Given the description of an element on the screen output the (x, y) to click on. 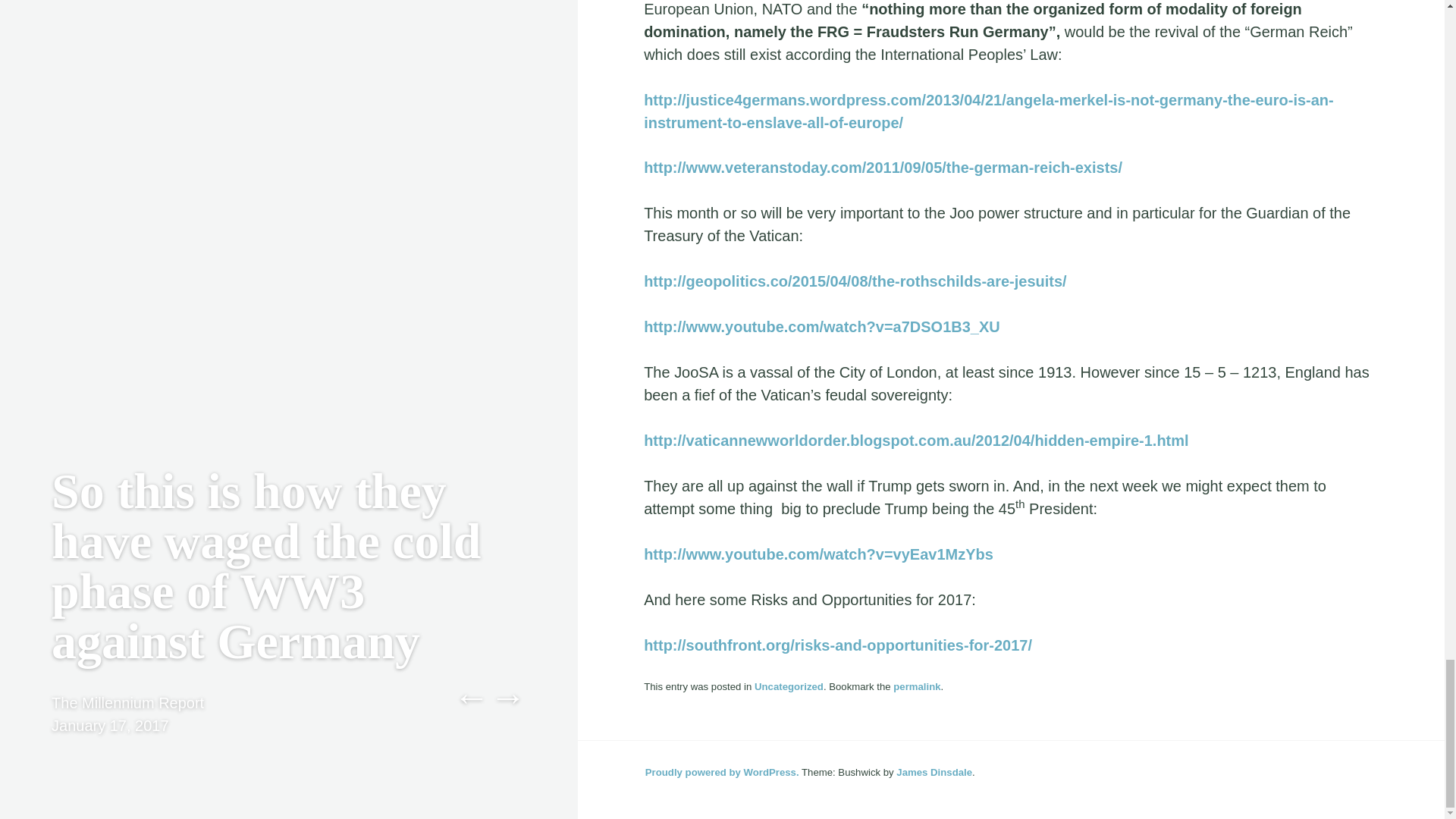
A Semantic Personal Publishing Platform (722, 772)
